Given the description of an element on the screen output the (x, y) to click on. 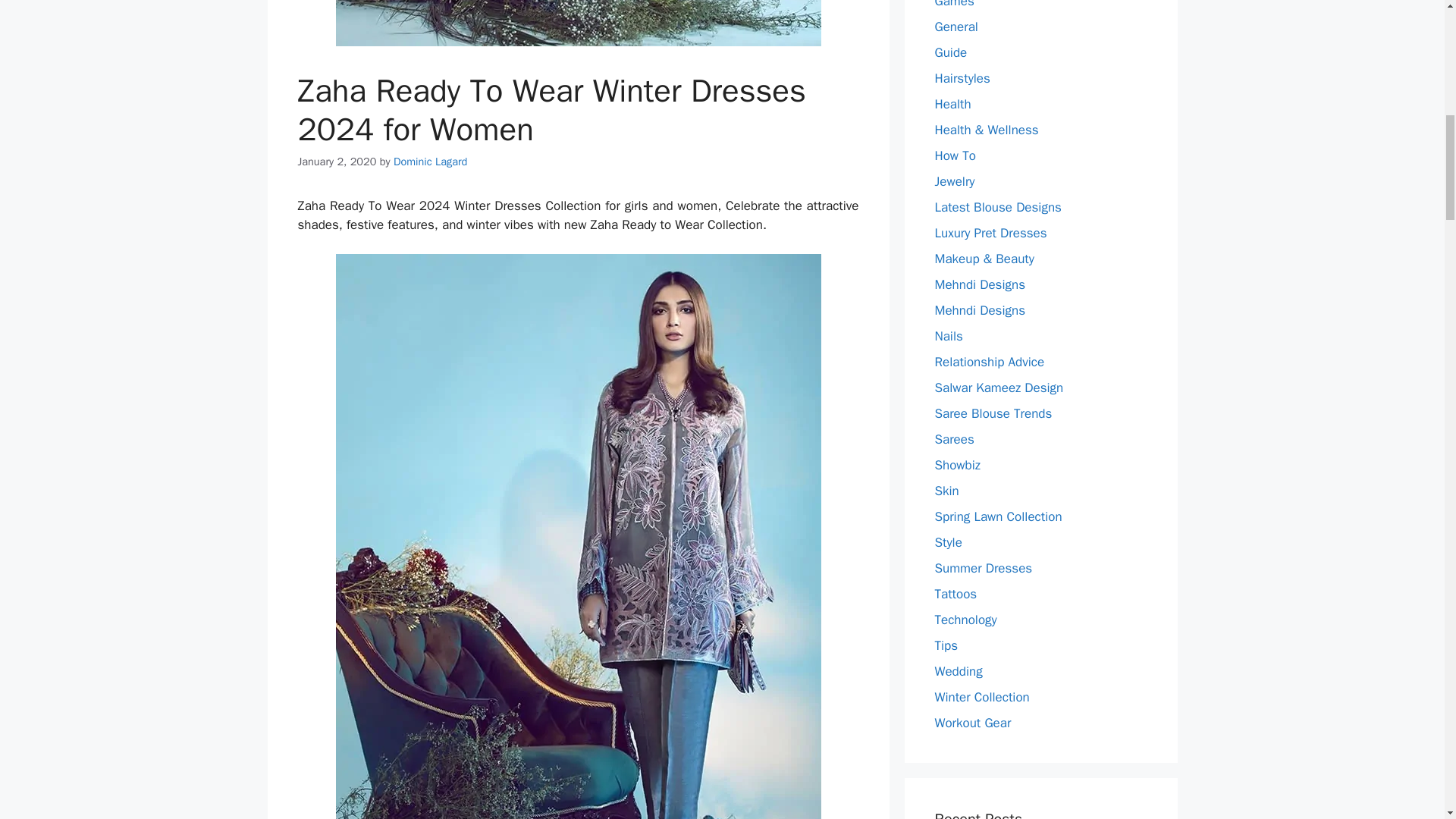
View all posts by Dominic Lagard (430, 161)
Dominic Lagard (430, 161)
